Given the description of an element on the screen output the (x, y) to click on. 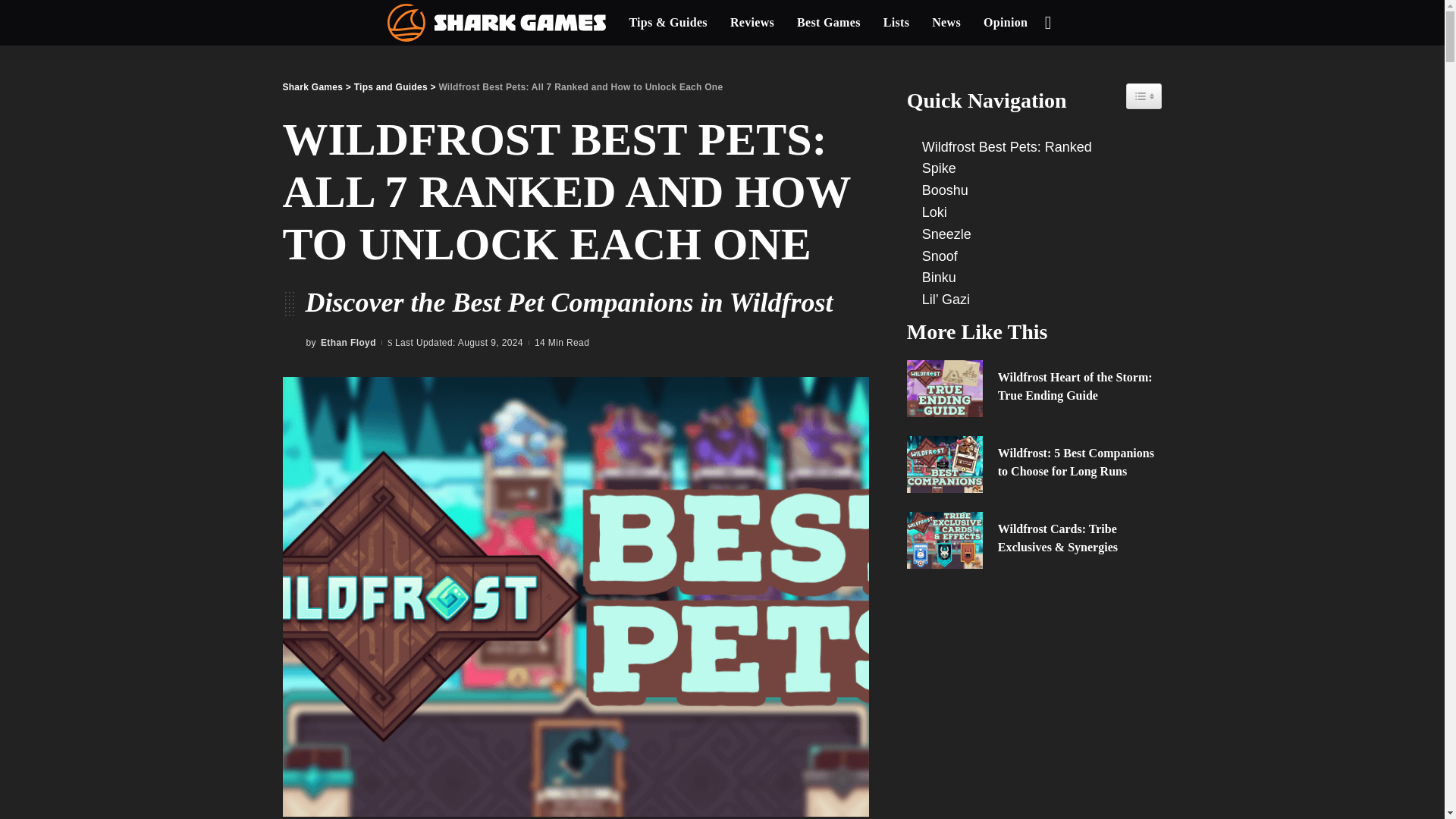
Go to the Tips and Guides Category archives. (390, 86)
2024-08-09T13:03:28-04:00 (458, 342)
Go to Shark Games. (312, 86)
Reviews (752, 22)
Search (1035, 65)
News (946, 22)
Best Games (829, 22)
Shark Games (497, 22)
Opinion (1005, 22)
